Given the description of an element on the screen output the (x, y) to click on. 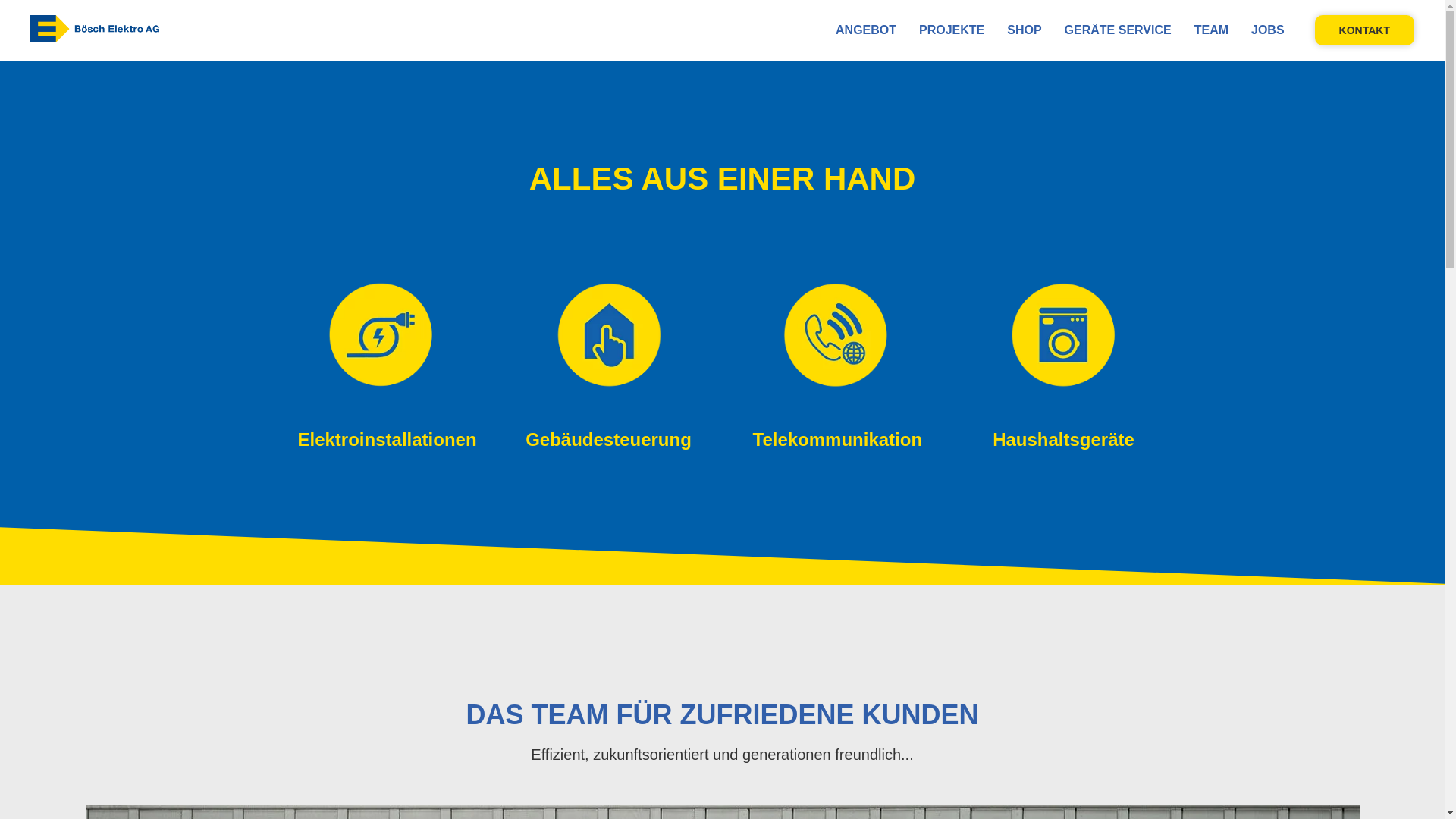
PROJEKTE Element type: text (951, 29)
Telekommunikation Element type: text (837, 439)
ANGEBOT Element type: text (865, 29)
JOBS Element type: text (1267, 29)
Elektroinstallationen Element type: text (386, 439)
SHOP Element type: text (1024, 29)
TEAM Element type: text (1211, 29)
KONTAKT Element type: text (1364, 30)
